Given the description of an element on the screen output the (x, y) to click on. 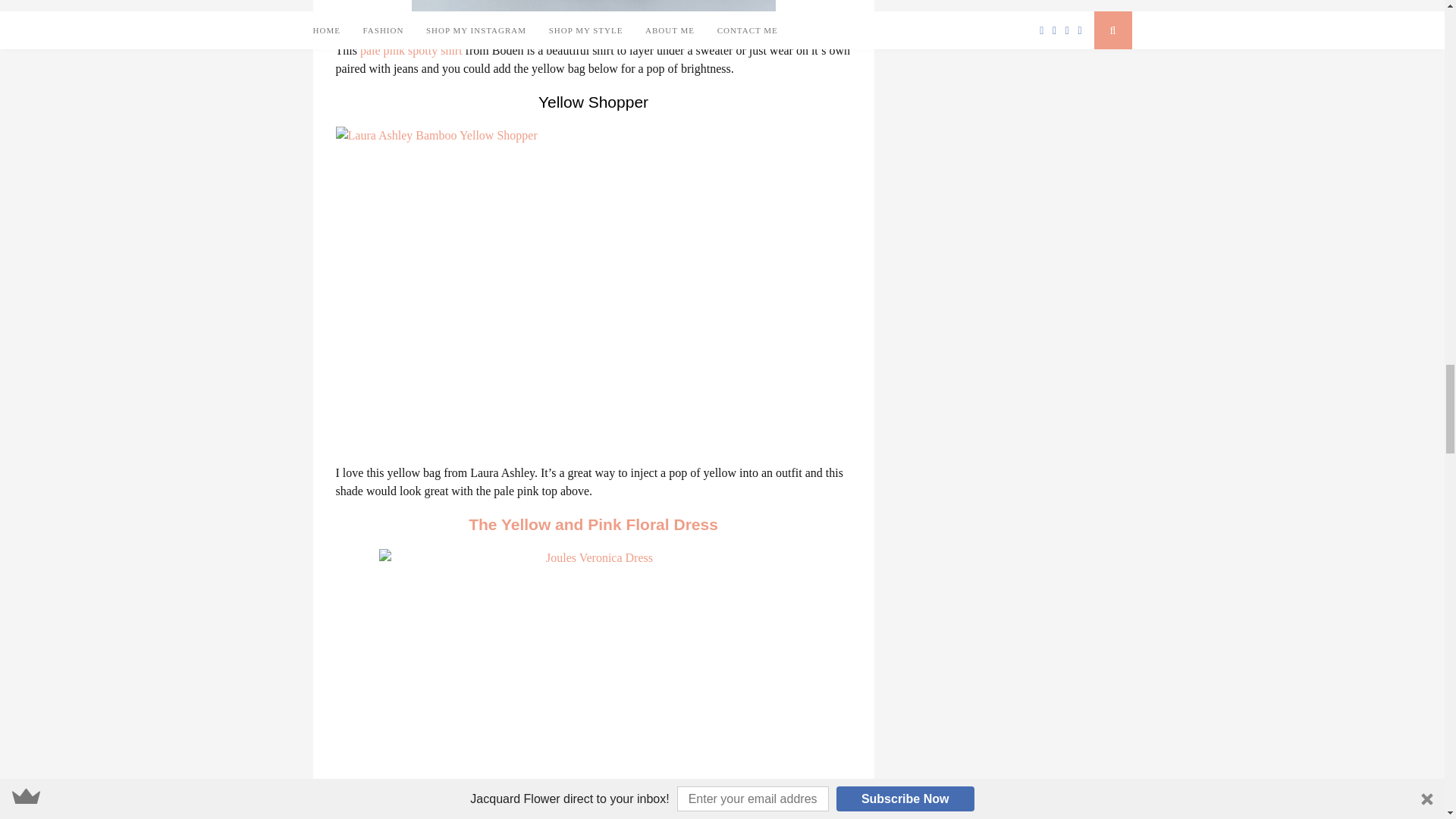
The Yellow and Pink Floral Dress (592, 524)
pale pink spotty shirt (411, 50)
